Given the description of an element on the screen output the (x, y) to click on. 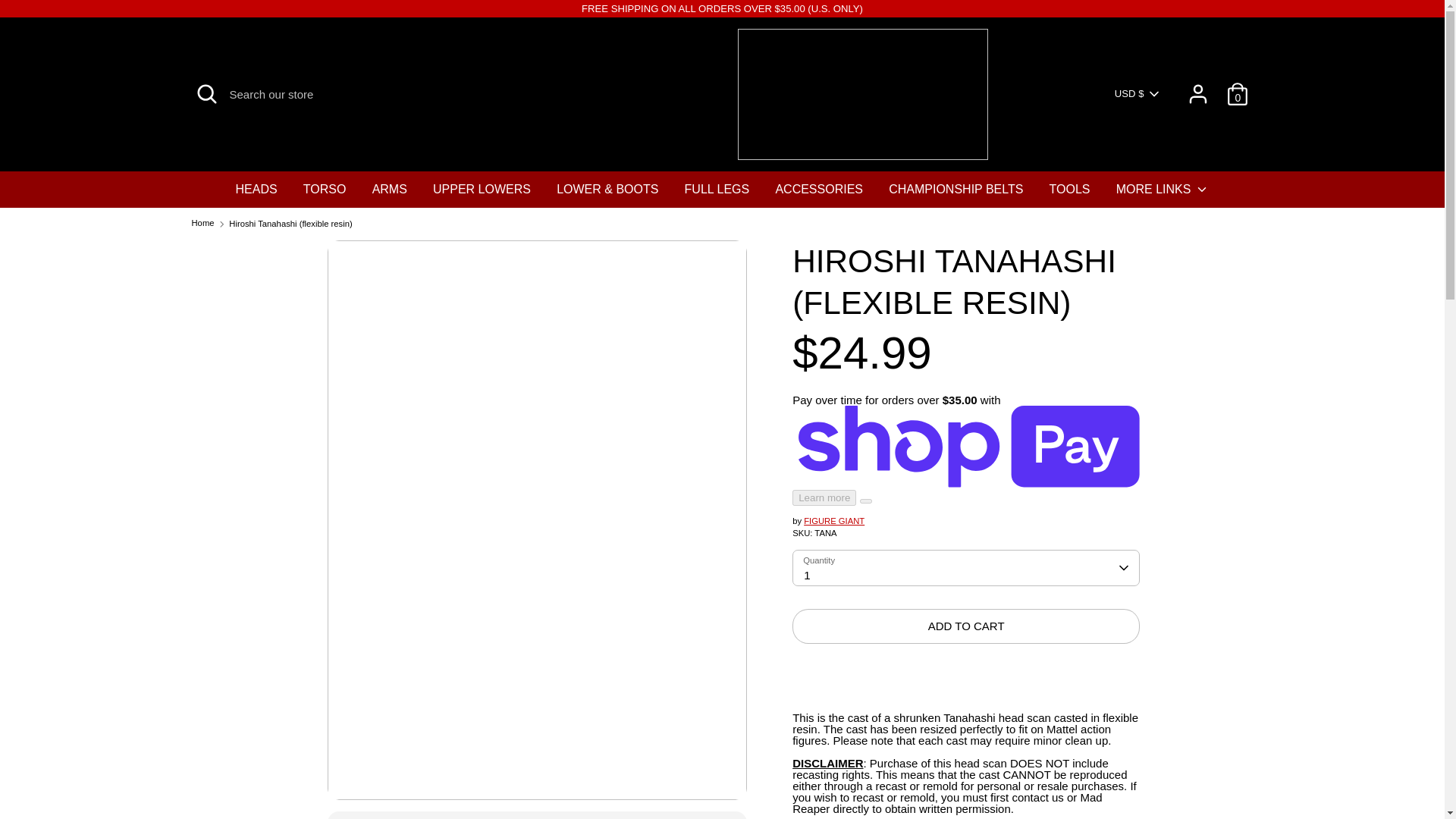
1 (965, 568)
